Given the description of an element on the screen output the (x, y) to click on. 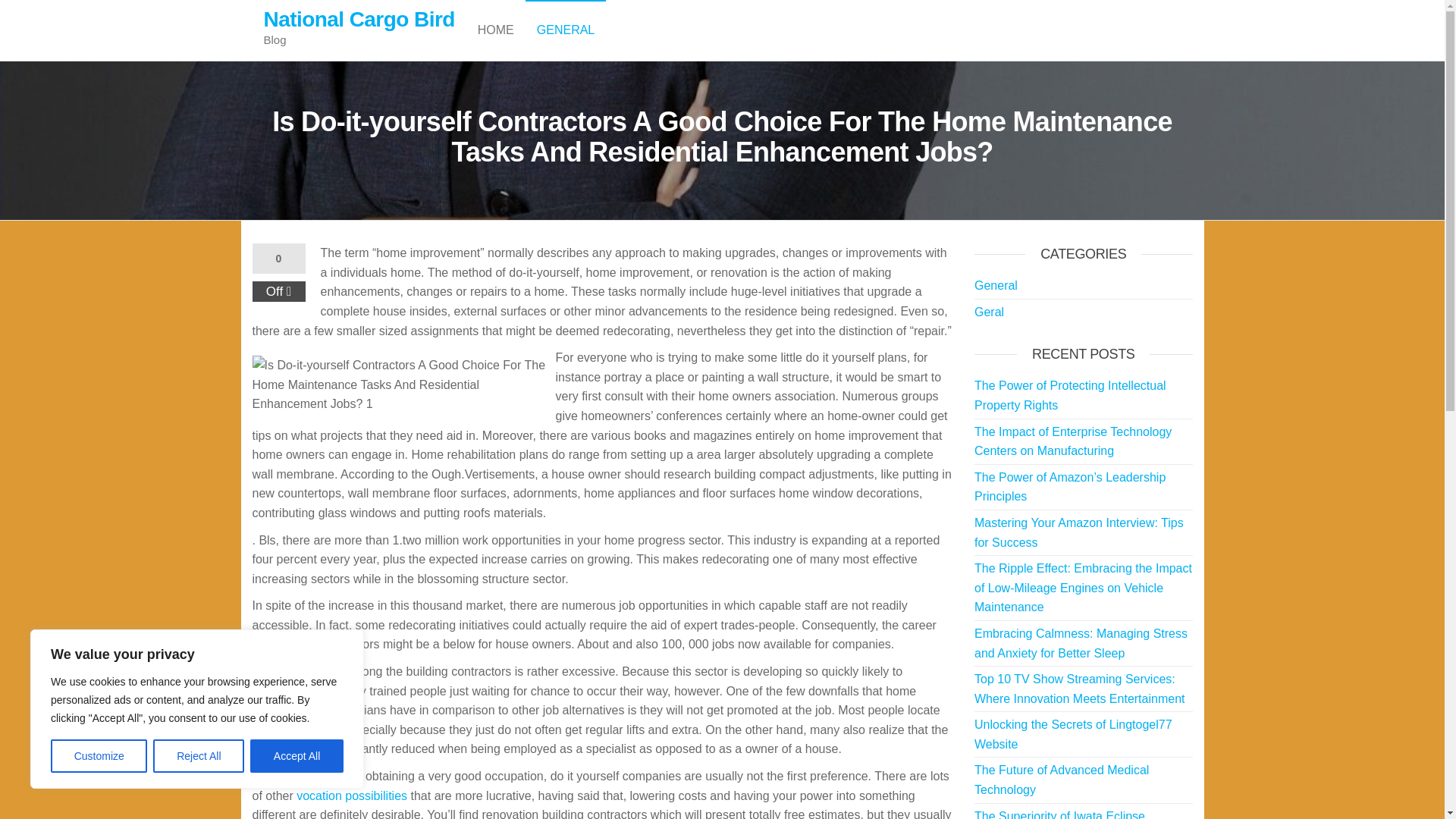
The Impact of Enterprise Technology Centers on Manufacturing (1073, 441)
Mastering Your Amazon Interview: Tips for Success (1078, 532)
Home (495, 30)
National Cargo Bird (358, 19)
The Power of Protecting Intellectual Property Rights (1070, 395)
HOME (495, 30)
Customize (98, 756)
